Given the description of an element on the screen output the (x, y) to click on. 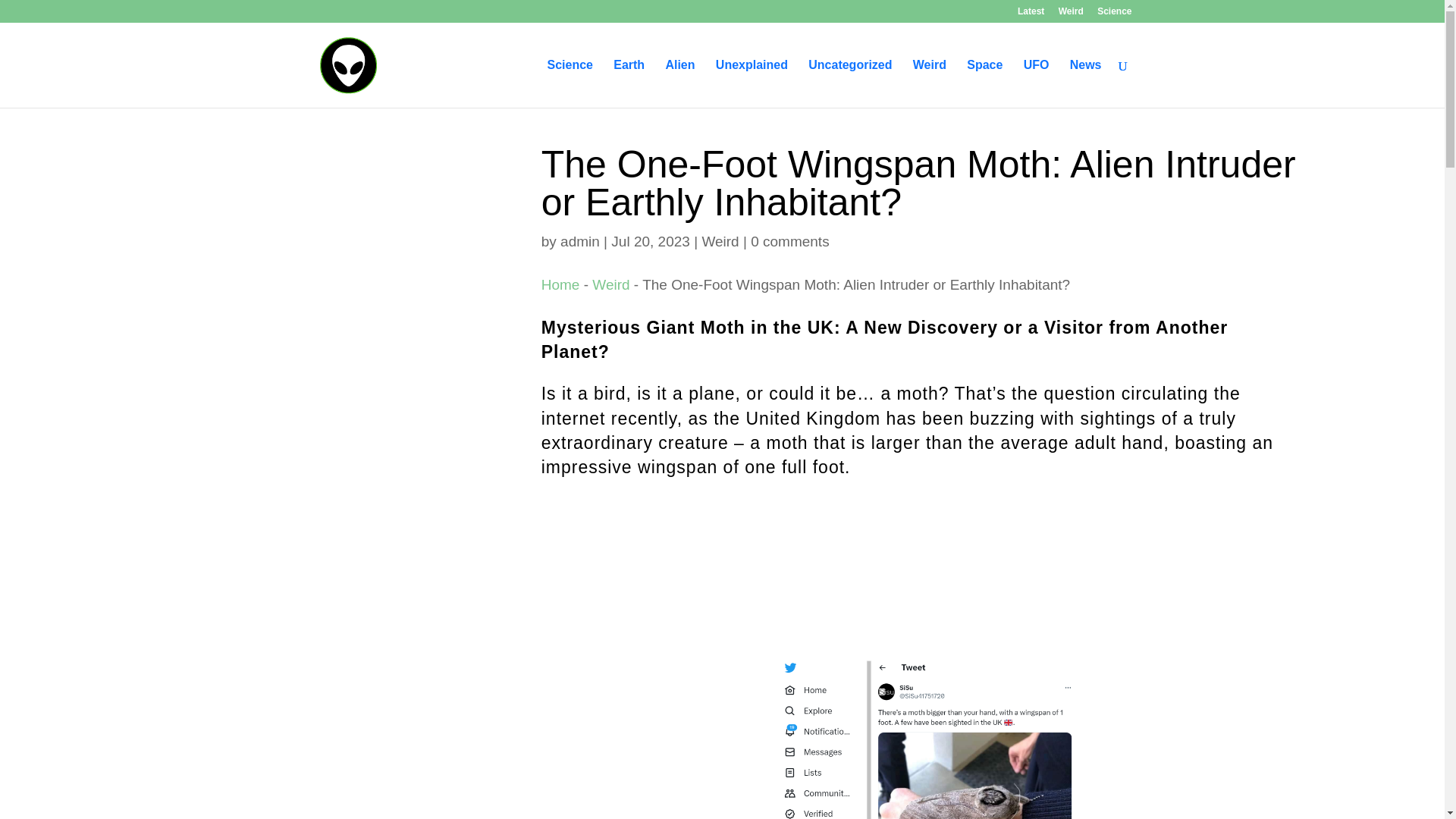
Home (560, 284)
Weird (1070, 14)
Posts by admin (579, 241)
Weird (719, 241)
Unexplained (751, 83)
Uncategorized (849, 83)
0 comments (789, 241)
Science (569, 83)
admin (579, 241)
Latest (1030, 14)
Science (1114, 14)
Advertisement (920, 578)
Weird (610, 284)
